Given the description of an element on the screen output the (x, y) to click on. 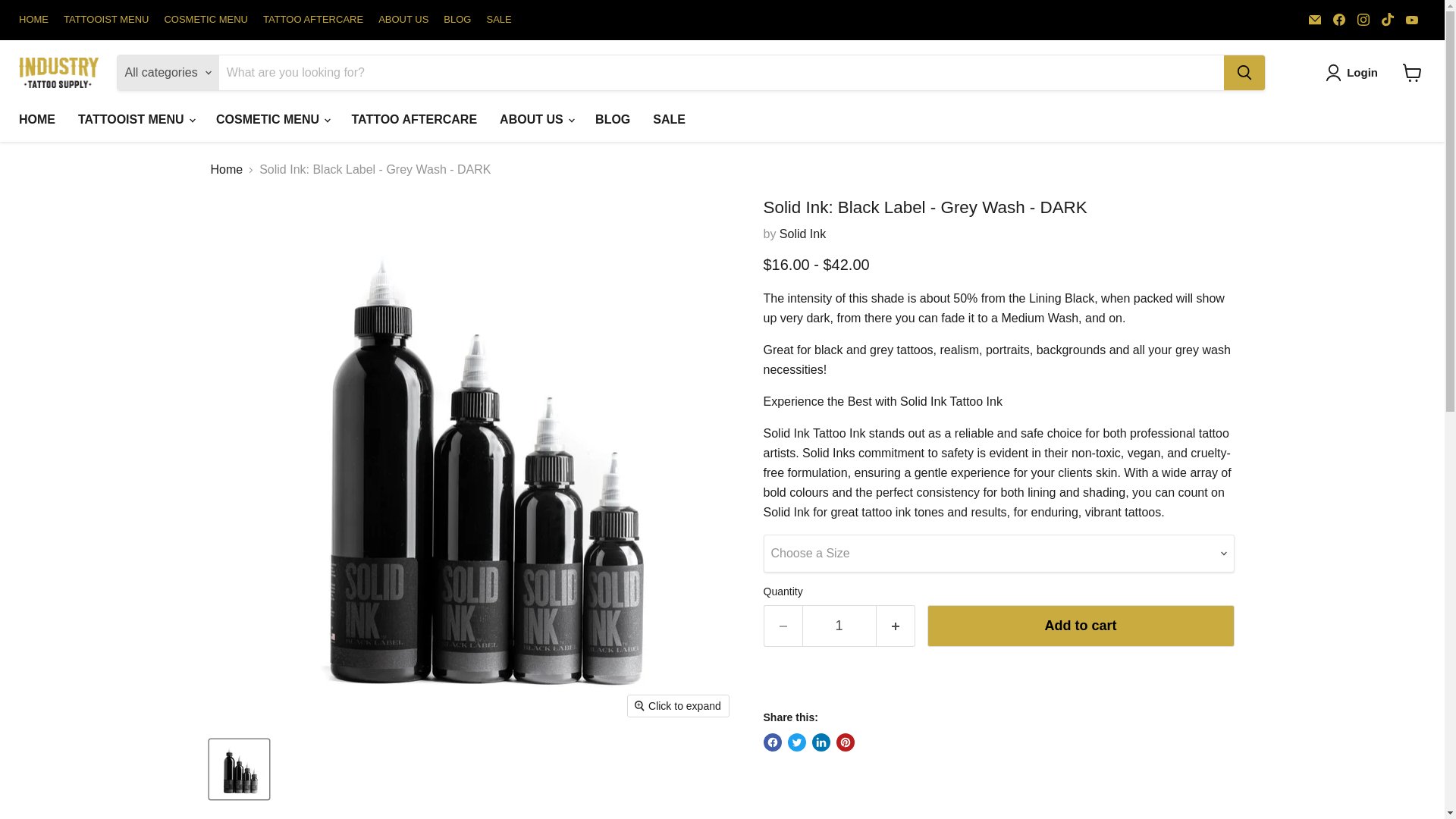
BLOG (457, 19)
TATTOOIST MENU (106, 19)
Solid Ink (801, 233)
Find us on Facebook (1338, 19)
Email Industry Tattoo Supply (1314, 19)
Login (1354, 72)
COSMETIC MENU (205, 19)
HOME (33, 19)
View cart (1411, 72)
Find us on Instagram (1363, 19)
Email (1314, 19)
Instagram (1363, 19)
SALE (498, 19)
TikTok (1387, 19)
Facebook (1338, 19)
